Given the description of an element on the screen output the (x, y) to click on. 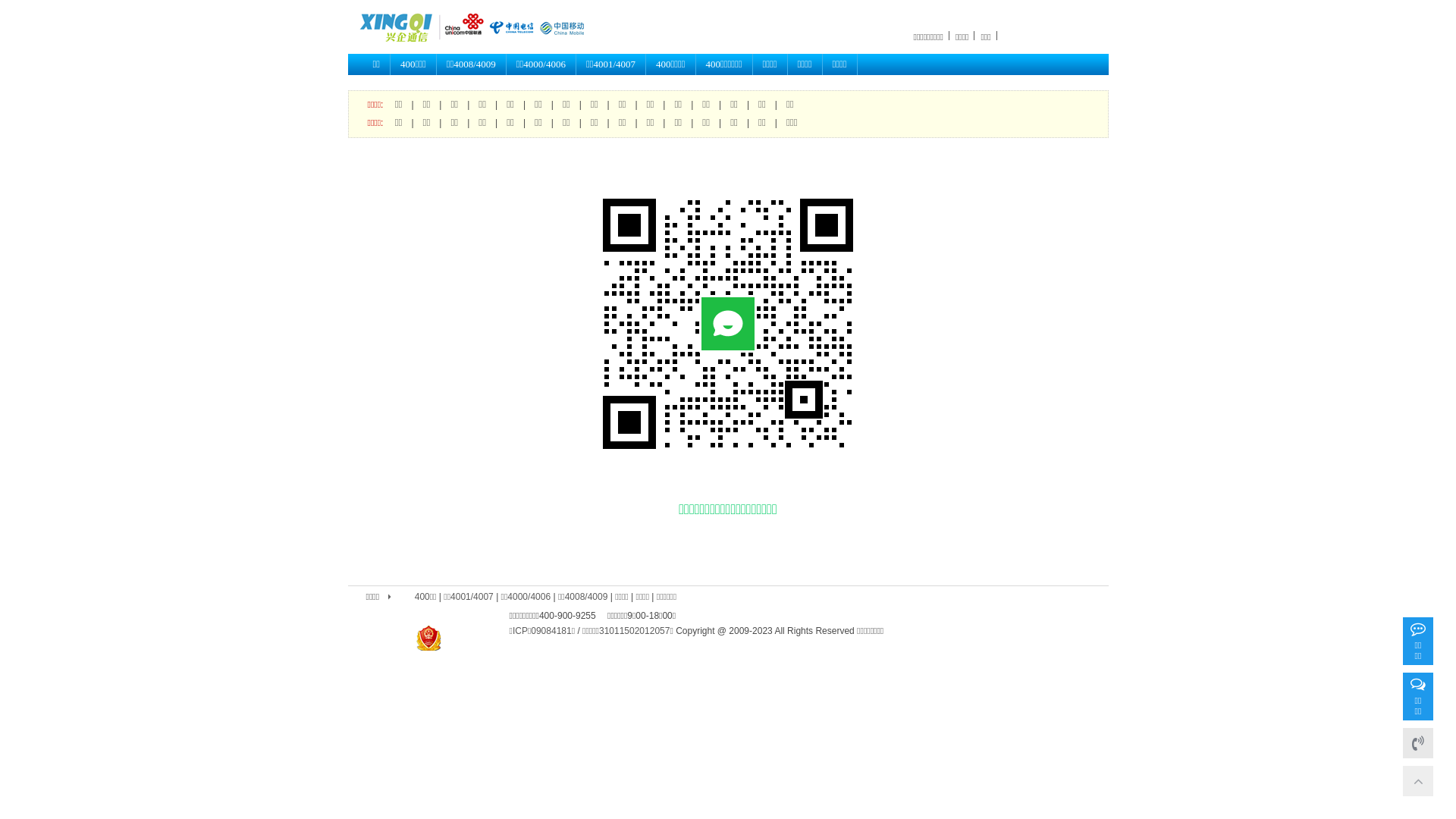
400-900-9255 Element type: hover (1417, 743)
